Given the description of an element on the screen output the (x, y) to click on. 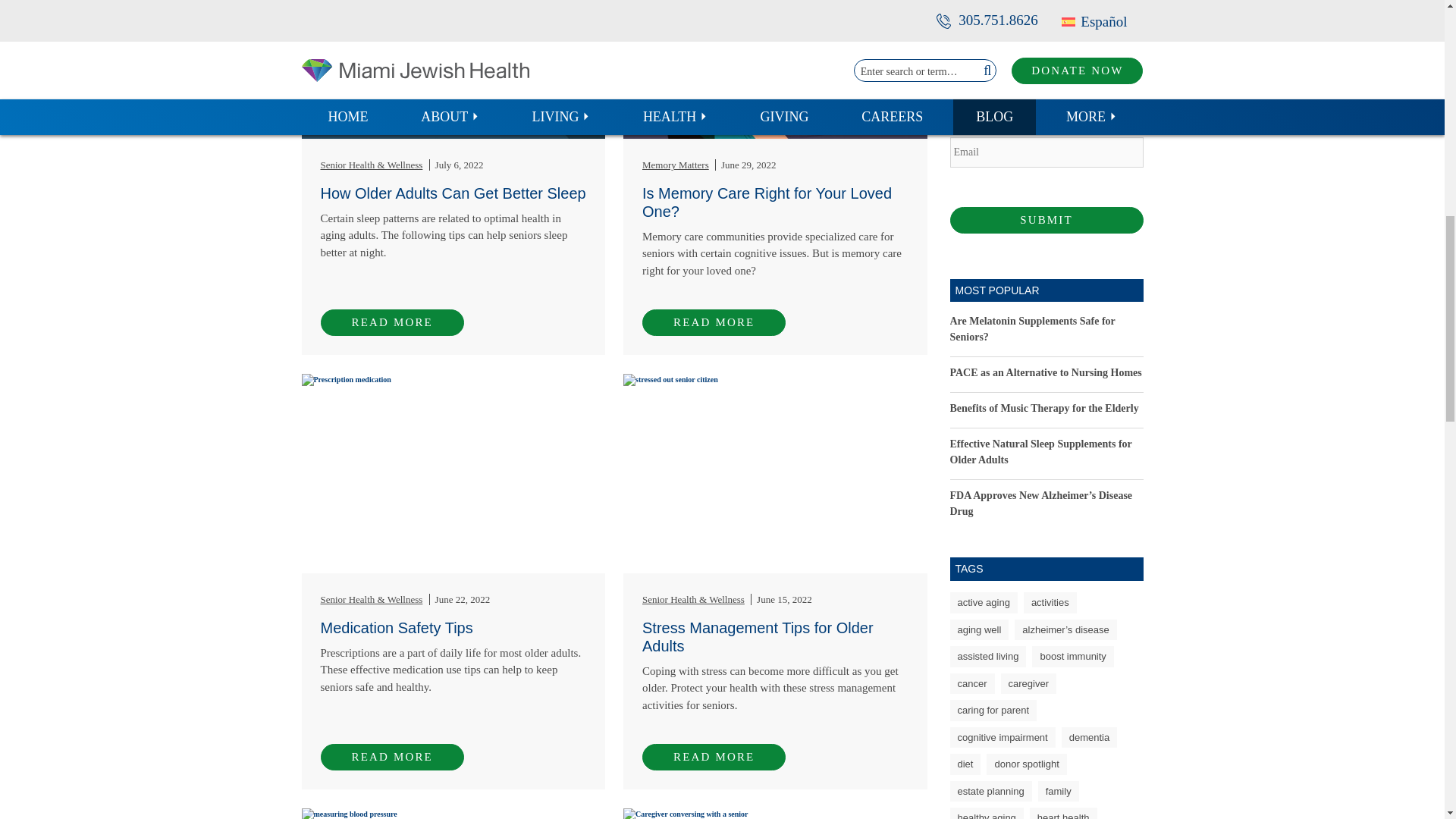
Submit (1045, 220)
